Given the description of an element on the screen output the (x, y) to click on. 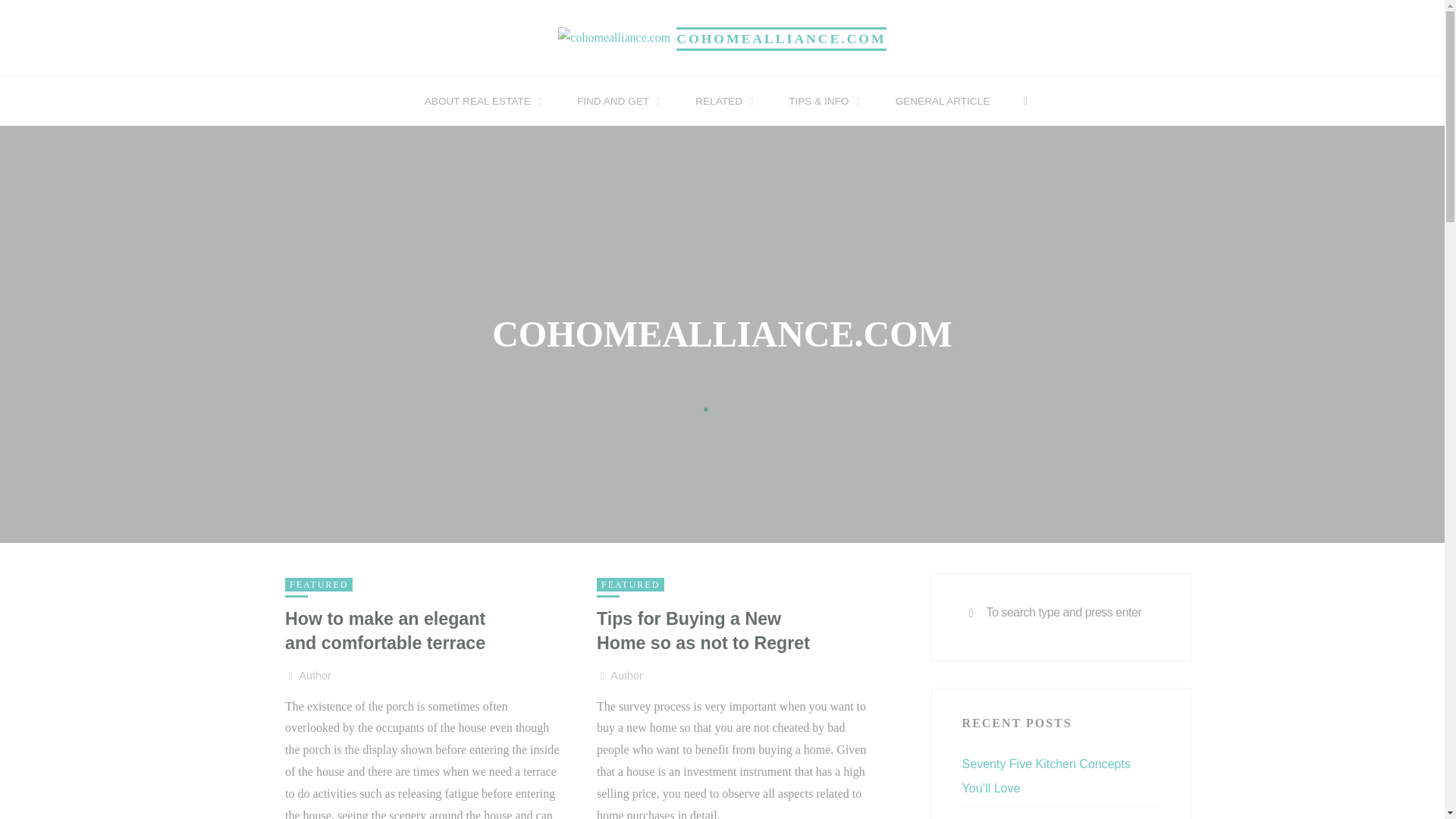
View all posts by Author (314, 676)
cohomealliance.com (613, 36)
Find Your Ideal Home (781, 38)
FIND AND GET (615, 101)
COHOMEALLIANCE.COM (781, 38)
ABOUT REAL ESTATE (480, 101)
View all posts by Author (627, 676)
